Given the description of an element on the screen output the (x, y) to click on. 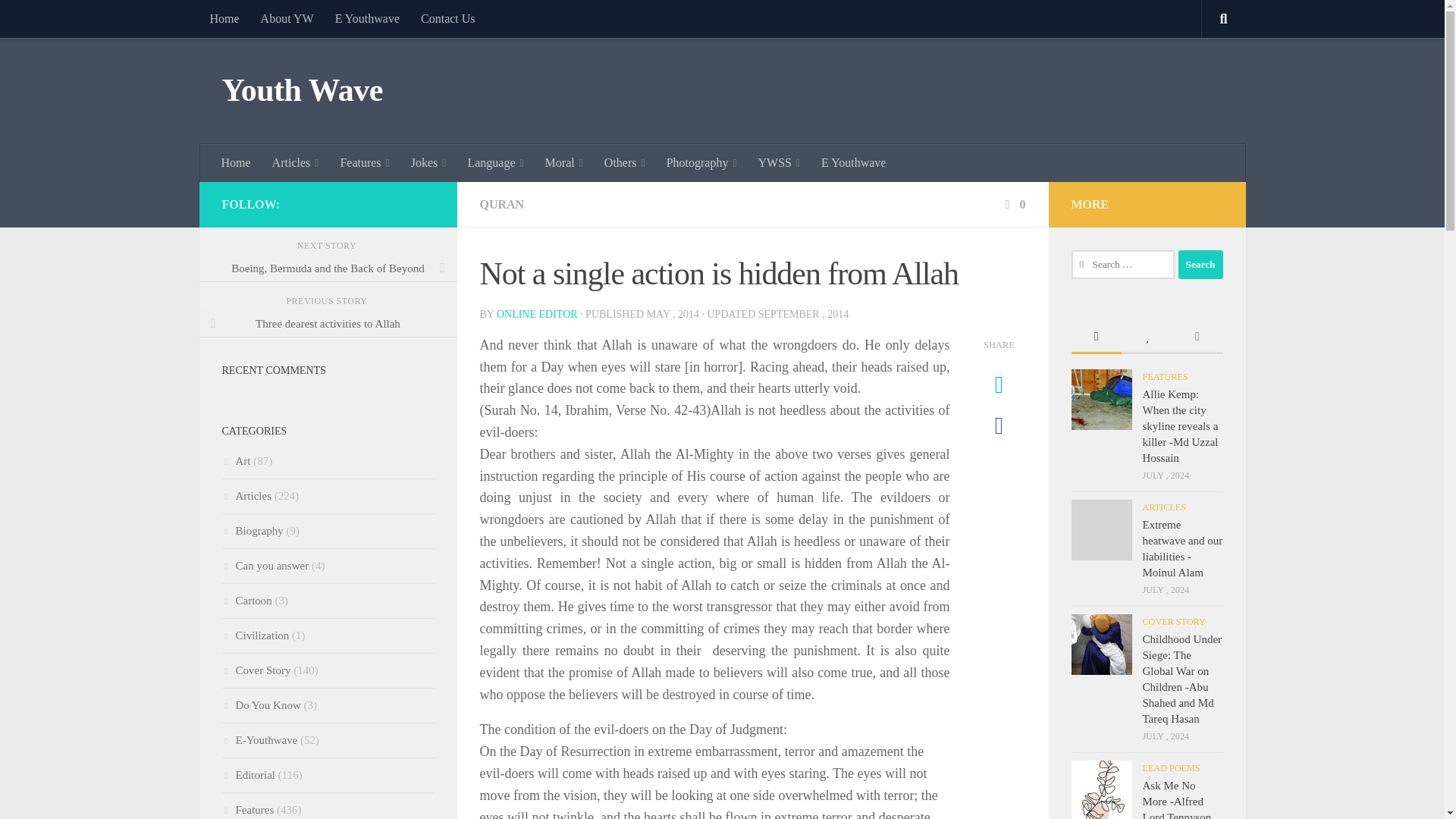
Posts by Online Editor (537, 314)
Popular Posts (1146, 337)
Search (1200, 264)
Recent Posts (1095, 337)
Skip to content (59, 20)
Search (1200, 264)
Recent Comments (1197, 337)
